Given the description of an element on the screen output the (x, y) to click on. 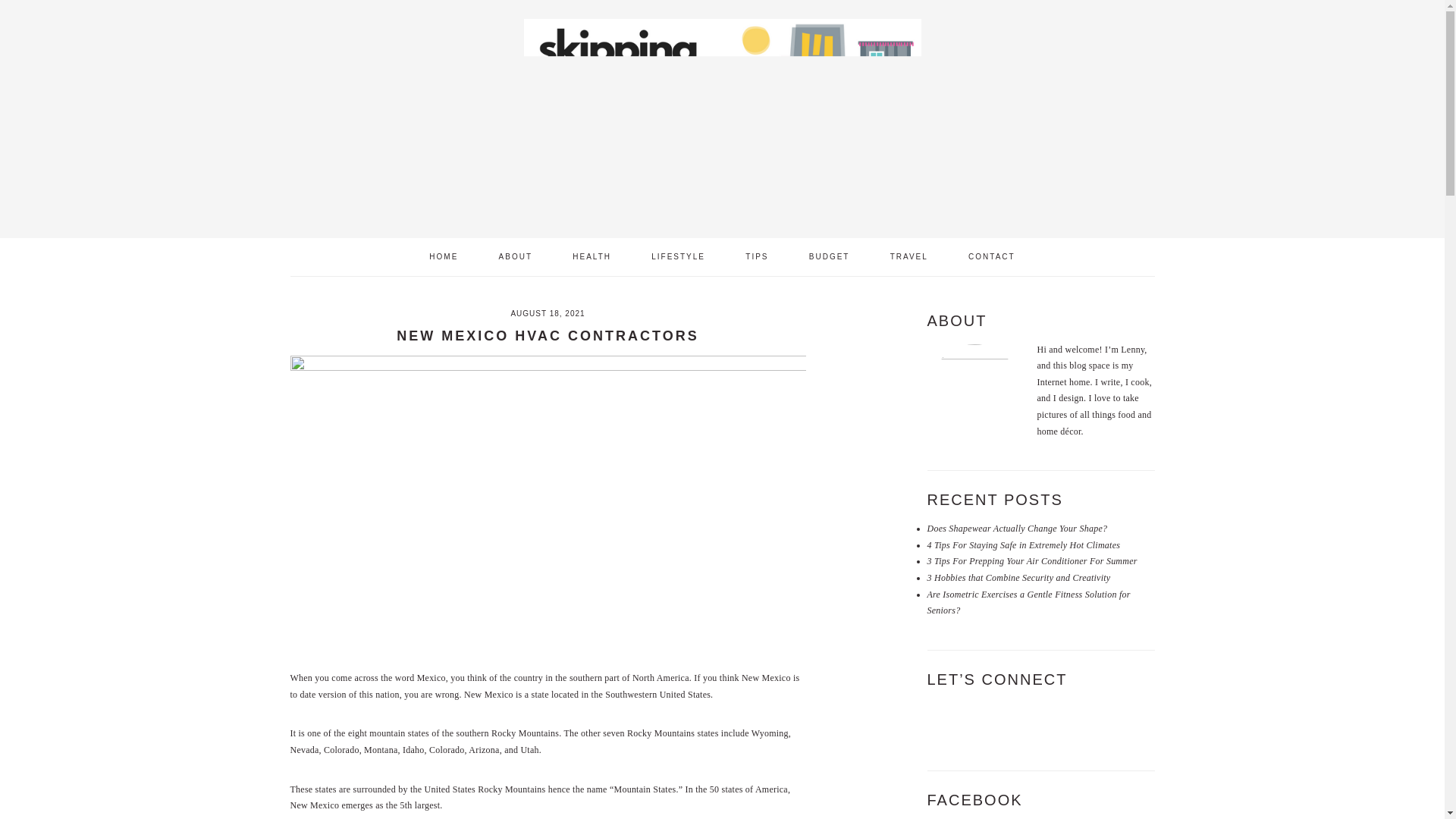
SKIPPING STONE DESIGN (721, 113)
HEALTH (591, 257)
Does Shapewear Actually Change Your Shape? (1016, 528)
HOME (443, 257)
TRAVEL (908, 257)
3 Hobbies that Combine Security and Creativity (1017, 577)
3 Tips For Prepping Your Air Conditioner For Summer (1031, 561)
TIPS (756, 257)
ABOUT (515, 257)
4 Tips For Staying Safe in Extremely Hot Climates (1022, 544)
LIFESTYLE (677, 257)
CONTACT (991, 257)
BUDGET (829, 257)
